Given the description of an element on the screen output the (x, y) to click on. 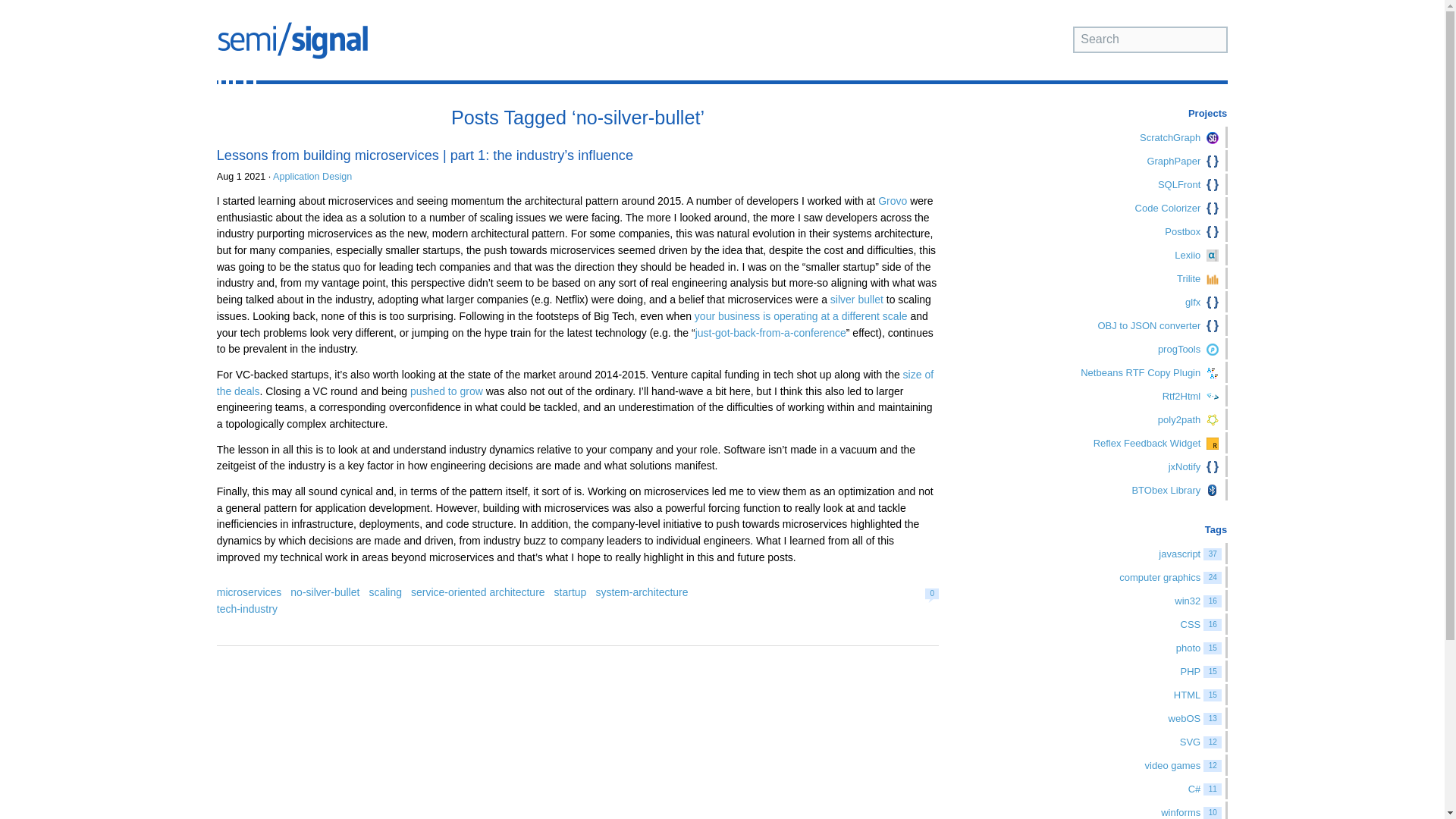
your business is operating at a different scale (800, 316)
poly2path (1117, 418)
OBJ to JSON converter (1117, 324)
silver bullet (856, 299)
Grovo (892, 200)
Postbox (1117, 230)
CSS16 (1117, 623)
Rtf2Html (1117, 395)
scaling (384, 592)
javascript37 (1117, 553)
startup (570, 592)
jxNotify (1117, 465)
PHP15 (1117, 670)
Reflex Feedback Widget (1117, 442)
photo15 (1117, 647)
